Given the description of an element on the screen output the (x, y) to click on. 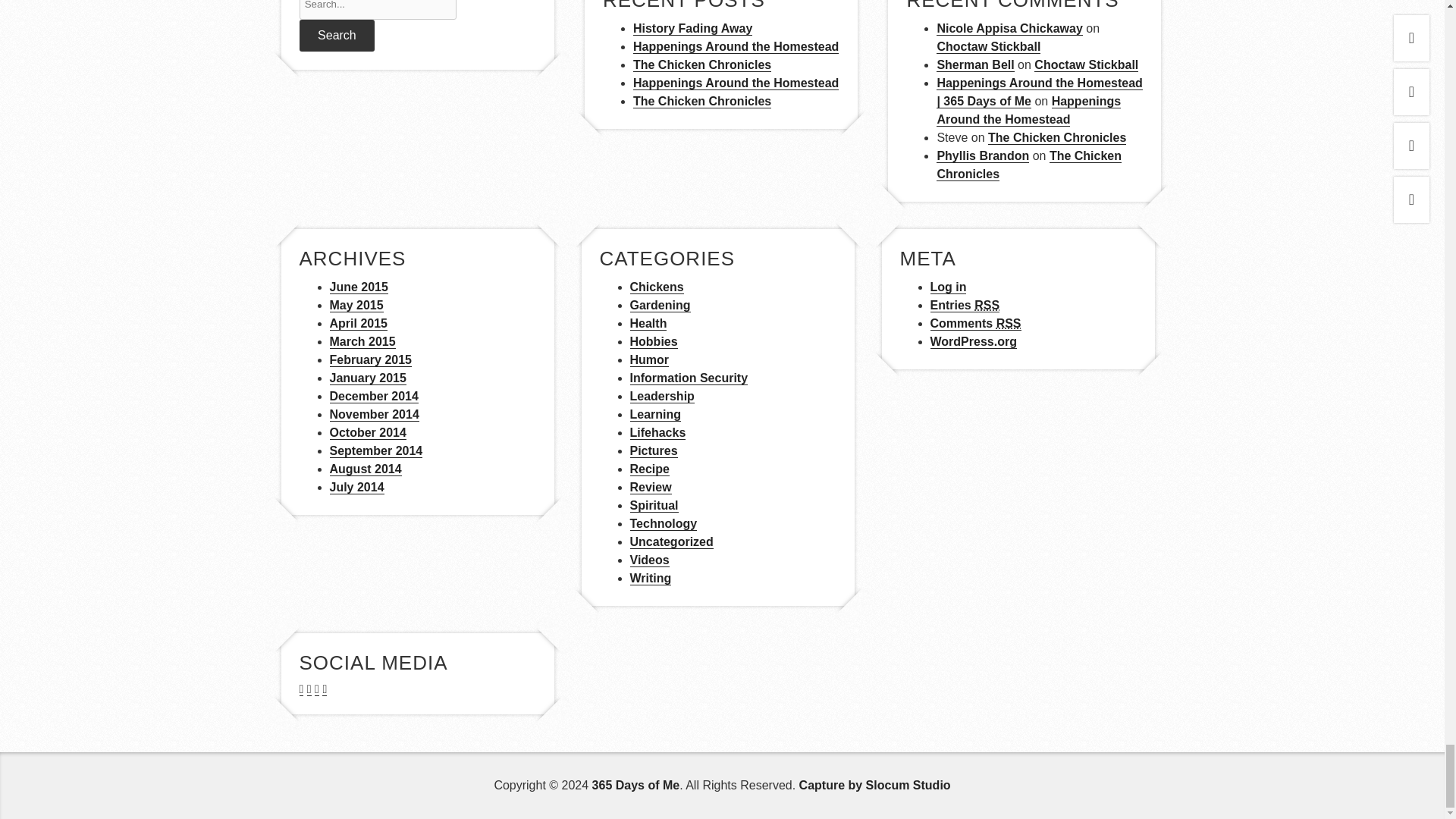
Really Simple Syndication (986, 305)
Really Simple Syndication (1008, 323)
Search (336, 35)
